Given the description of an element on the screen output the (x, y) to click on. 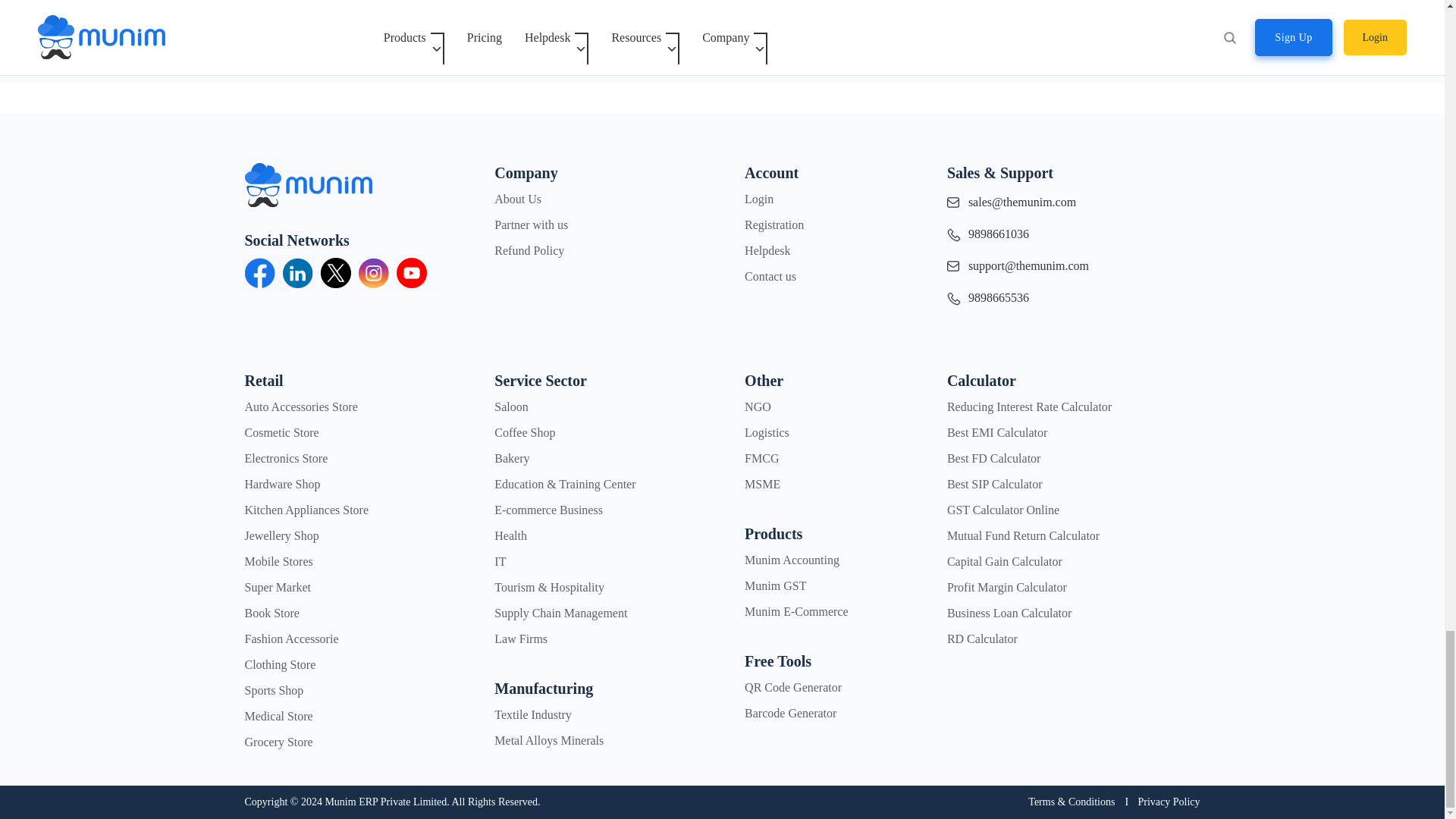
Themunim (307, 174)
Themunim (307, 146)
9898661036 (1071, 237)
